Given the description of an element on the screen output the (x, y) to click on. 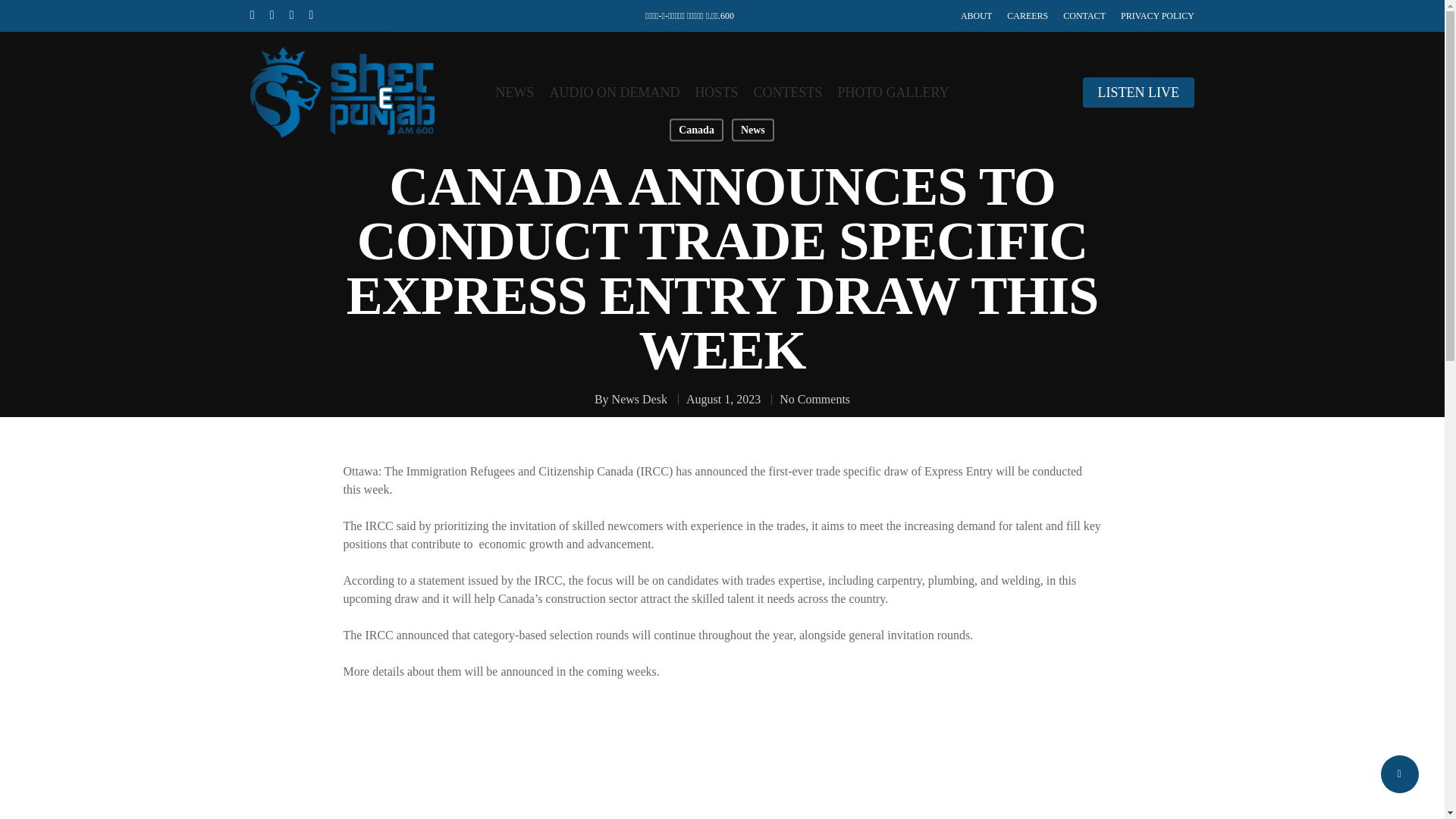
Posts by News Desk (638, 399)
CONTESTS (787, 92)
Canada (696, 128)
ABOUT (975, 15)
No Comments (814, 399)
News (753, 128)
LISTEN LIVE (1138, 92)
HOSTS (716, 92)
CONTACT (1083, 15)
PHOTO GALLERY (893, 92)
